Given the description of an element on the screen output the (x, y) to click on. 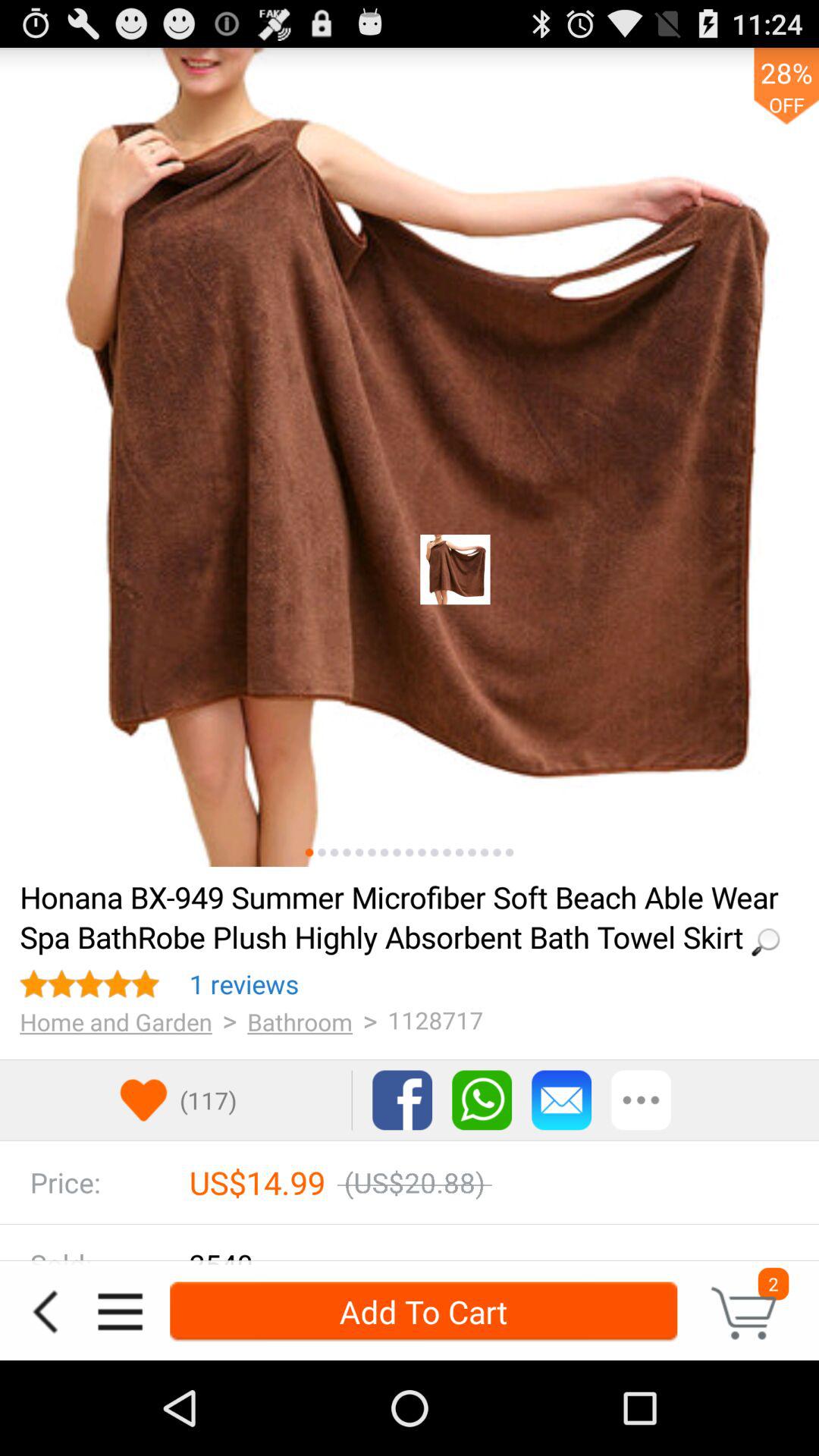
change image (359, 852)
